Given the description of an element on the screen output the (x, y) to click on. 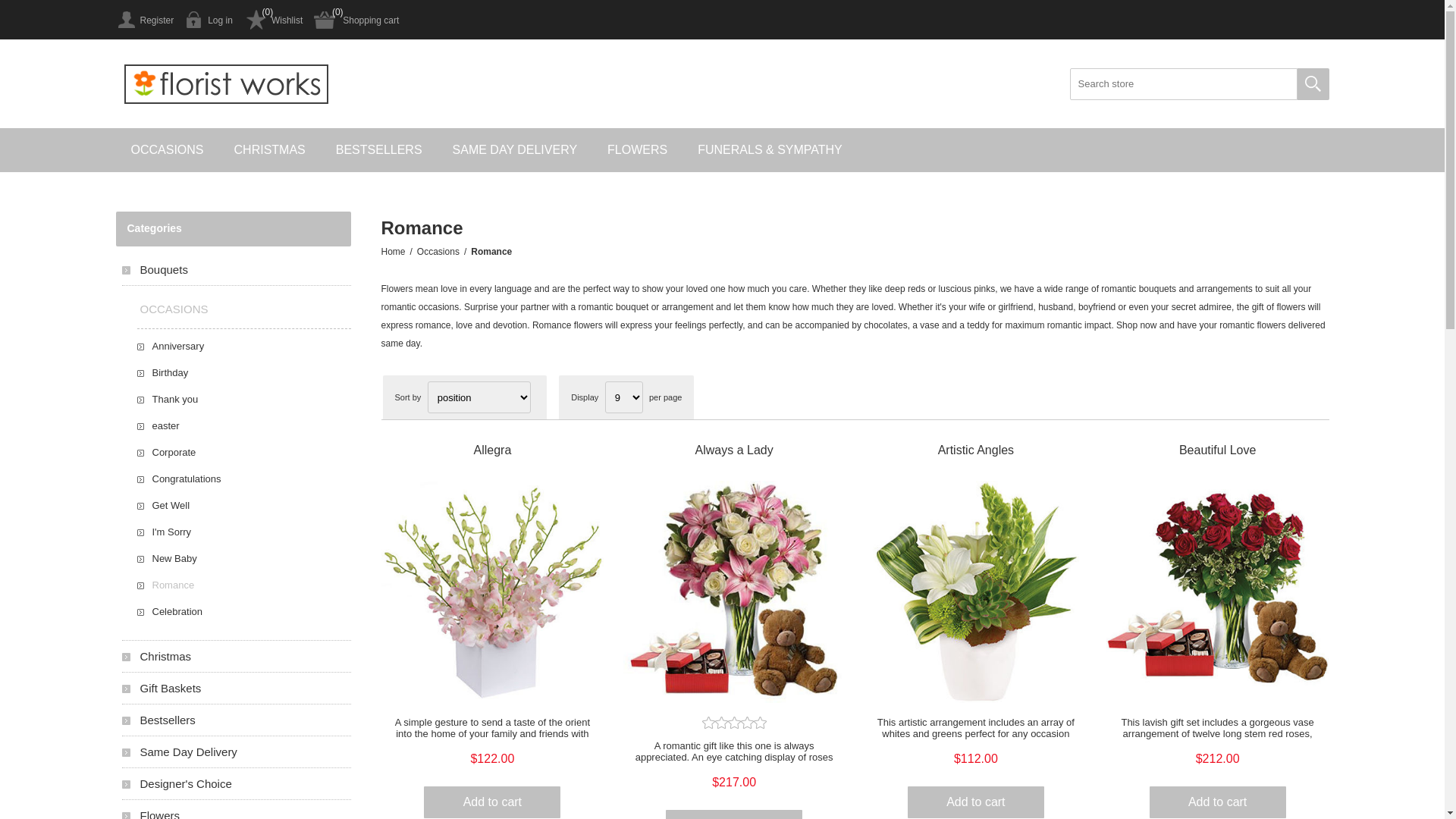
Occasions Element type: text (438, 251)
Celebration Element type: text (243, 611)
Show details for Allegra Element type: hover (492, 591)
Bouquets Element type: text (235, 269)
Log in Element type: text (208, 19)
Add to cart Element type: text (491, 802)
Christmas Element type: text (235, 655)
0 review(s) Element type: hover (733, 722)
CHRISTMAS Element type: text (269, 150)
Wishlist Element type: text (273, 19)
easter Element type: text (243, 425)
Allegra Element type: text (492, 450)
Shopping cart Element type: text (355, 19)
Get Well Element type: text (243, 505)
Home Element type: text (392, 251)
OCCASIONS Element type: text (166, 150)
Add to cart Element type: text (975, 802)
Register Element type: text (144, 19)
Bestsellers Element type: text (235, 719)
Show details for Artistic Angles Element type: hover (975, 591)
New Baby Element type: text (243, 558)
Congratulations Element type: text (243, 478)
Designer's Choice Element type: text (235, 783)
Corporate Element type: text (243, 452)
I'm Sorry Element type: text (243, 531)
SAME DAY DELIVERY Element type: text (515, 150)
Thank you Element type: text (243, 398)
Same Day Delivery Element type: text (235, 751)
FUNERALS & SYMPATHY Element type: text (769, 150)
Search Element type: text (1312, 84)
Show details for Always a Lady Element type: hover (734, 591)
Show details for Beautiful Love Element type: hover (1217, 591)
OCCASIONS Element type: text (235, 308)
BESTSELLERS Element type: text (378, 150)
Anniversary Element type: text (243, 345)
Always a Lady Element type: text (734, 450)
Gift Baskets Element type: text (235, 687)
Birthday Element type: text (243, 372)
FLOWERS Element type: text (637, 150)
Beautiful Love Element type: text (1217, 450)
Romance Element type: text (243, 584)
Artistic Angles Element type: text (975, 450)
Add to cart Element type: text (1217, 802)
